Given the description of an element on the screen output the (x, y) to click on. 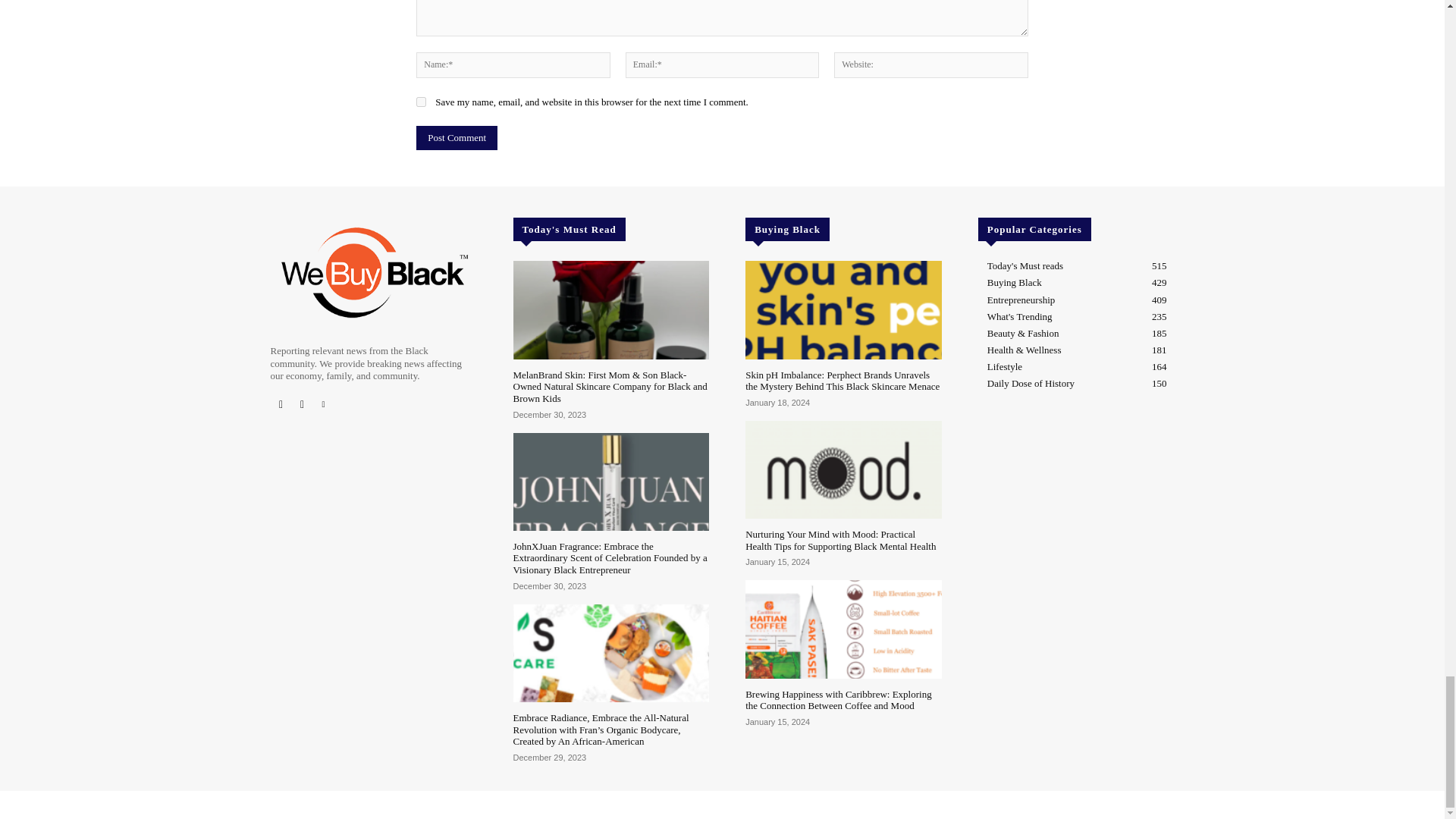
Post Comment (456, 137)
yes (421, 102)
